Given the description of an element on the screen output the (x, y) to click on. 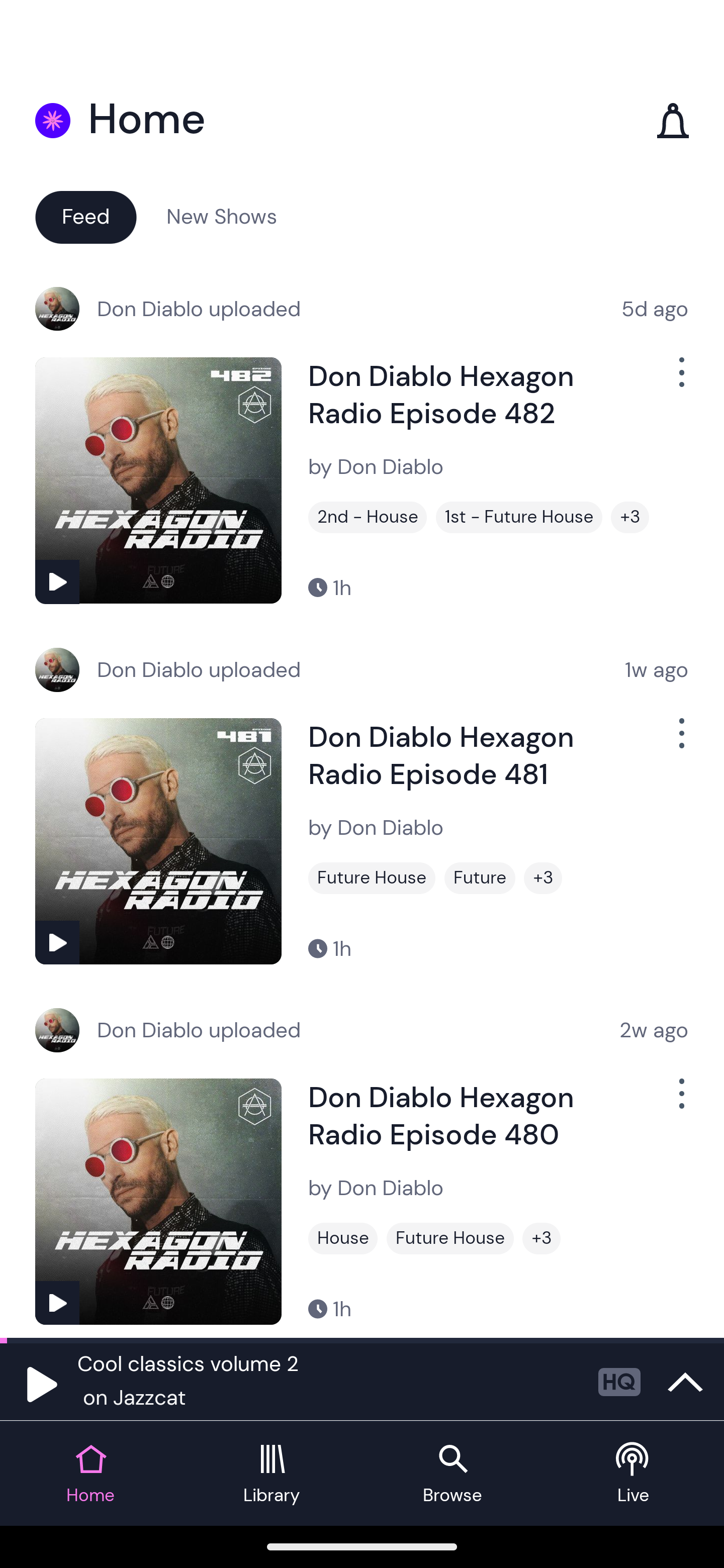
Feed (85, 216)
New Shows (221, 216)
Show Options Menu Button (679, 379)
2nd - House (367, 517)
1st - Future House (518, 517)
Show Options Menu Button (679, 740)
Future House (371, 877)
Future (479, 877)
Show Options Menu Button (679, 1101)
House (342, 1238)
Future House (450, 1238)
Home tab Home (90, 1473)
Library tab Library (271, 1473)
Browse tab Browse (452, 1473)
Live tab Live (633, 1473)
